Given the description of an element on the screen output the (x, y) to click on. 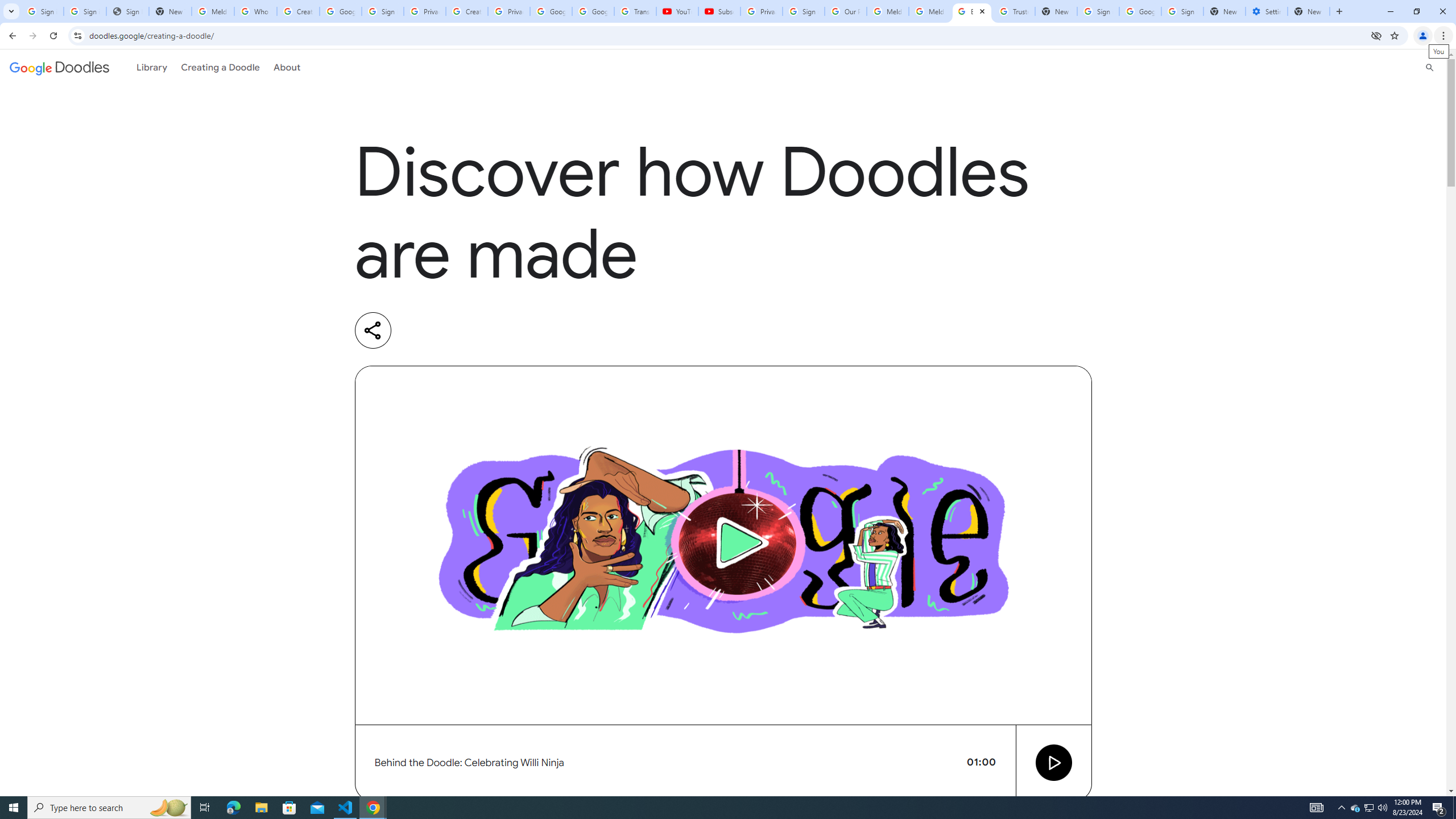
Subscriptions - YouTube (719, 11)
Video preview image (723, 545)
Sign in - Google Accounts (1097, 11)
Google Account (592, 11)
Creating a Doodle (220, 67)
